Given the description of an element on the screen output the (x, y) to click on. 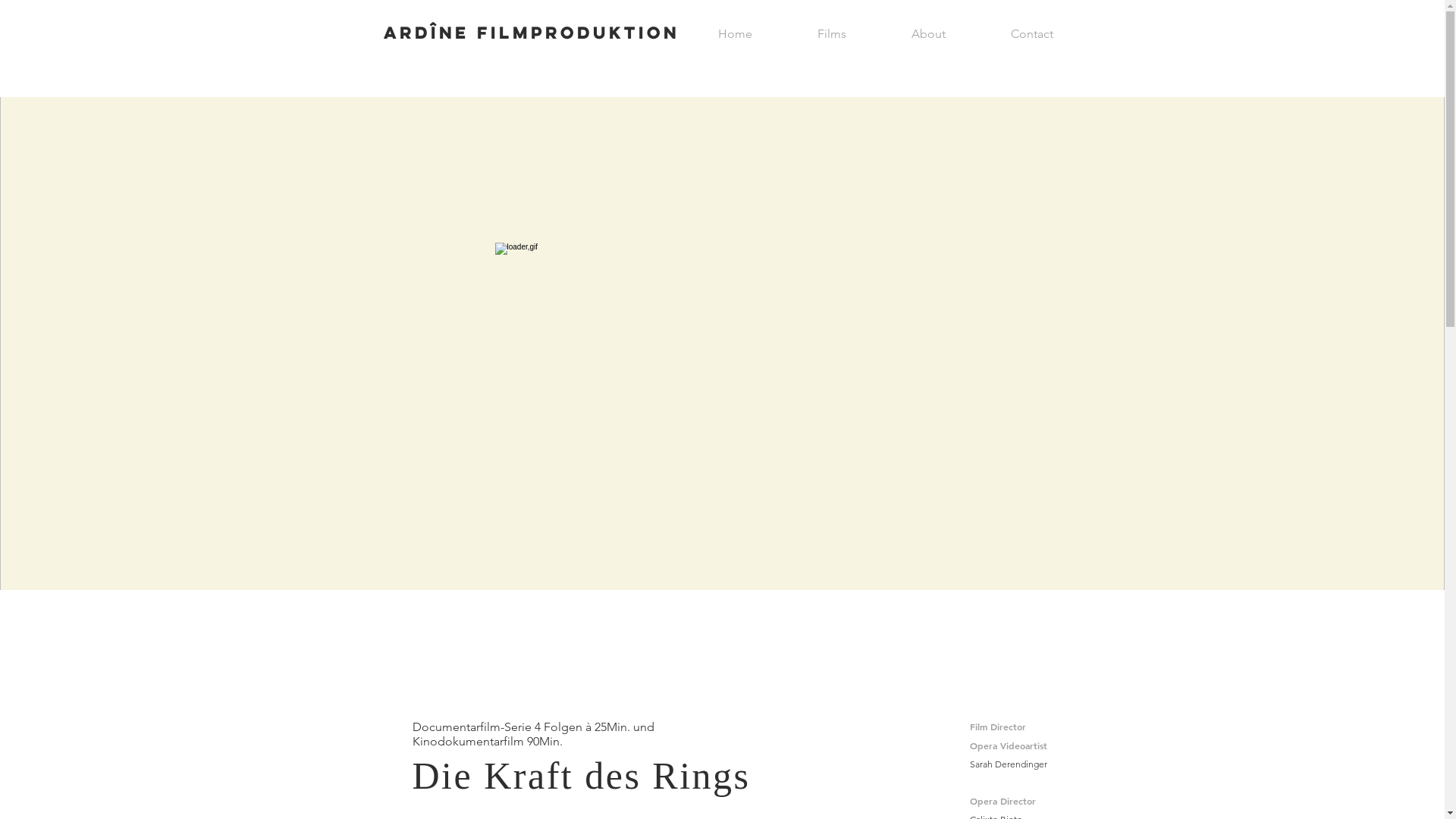
About Element type: text (927, 33)
Home Element type: text (734, 33)
Contact Element type: text (1031, 33)
Films Element type: text (831, 33)
